Given the description of an element on the screen output the (x, y) to click on. 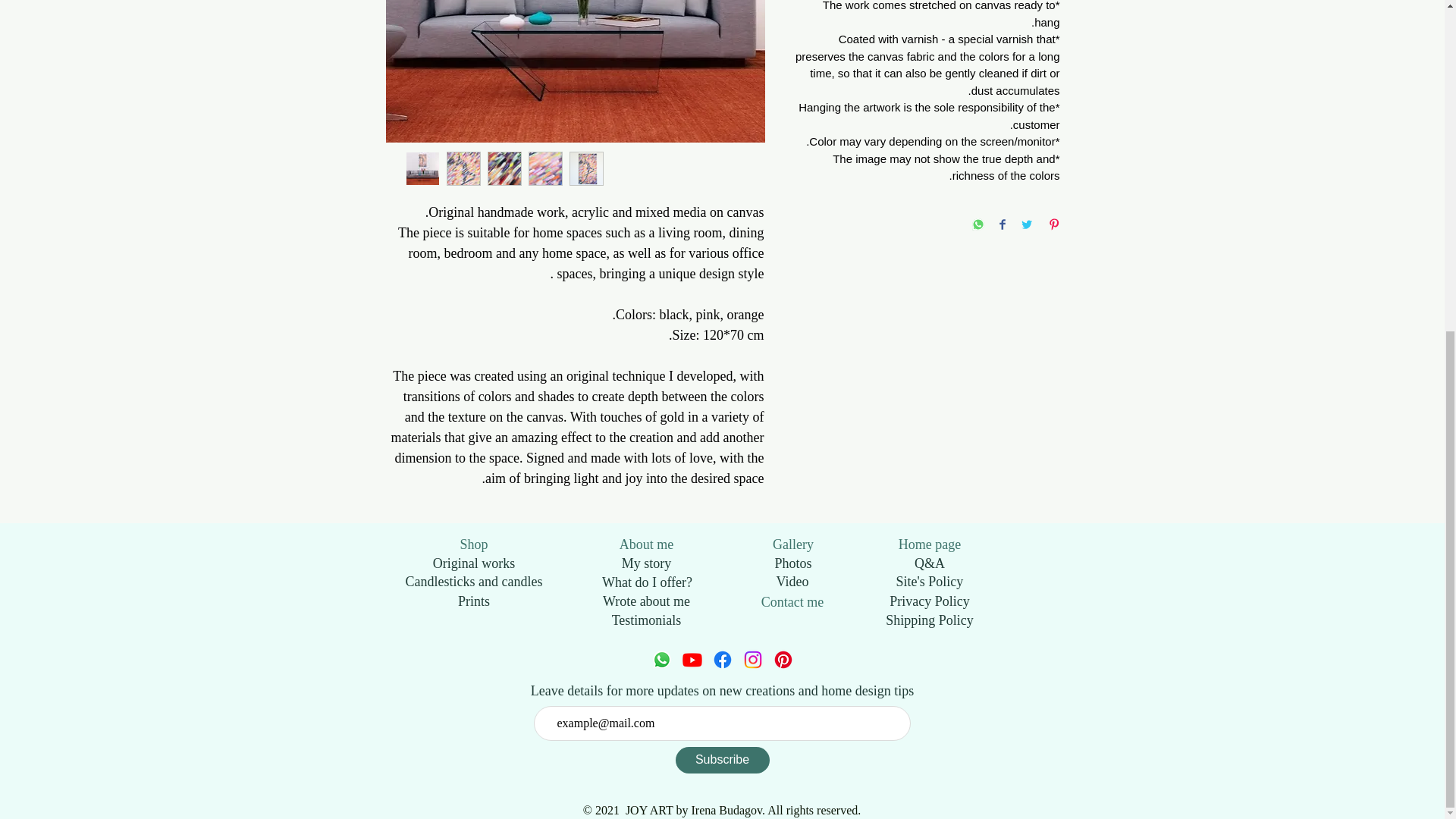
Testimonials (646, 620)
Prints (473, 601)
Candlesticks and candles (474, 581)
My story (646, 563)
What do I offer? (647, 581)
Wrote about me (646, 601)
Original works (473, 563)
